Given the description of an element on the screen output the (x, y) to click on. 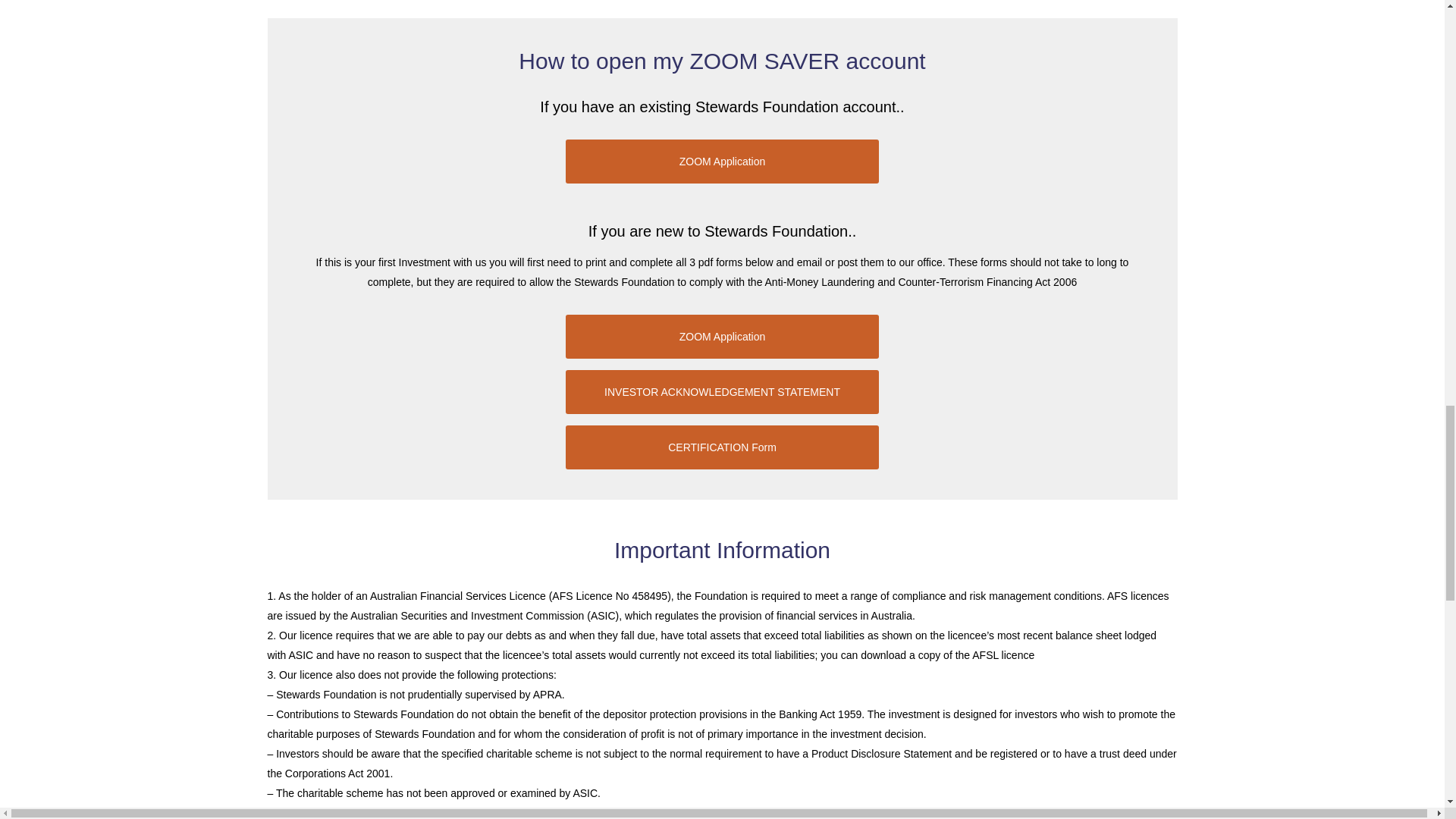
CERTIFICATION Form (722, 447)
INVESTOR ACKNOWLEDGEMENT STATEMENT (722, 392)
ZOOM Application (722, 336)
ZOOM Application (722, 161)
